Given the description of an element on the screen output the (x, y) to click on. 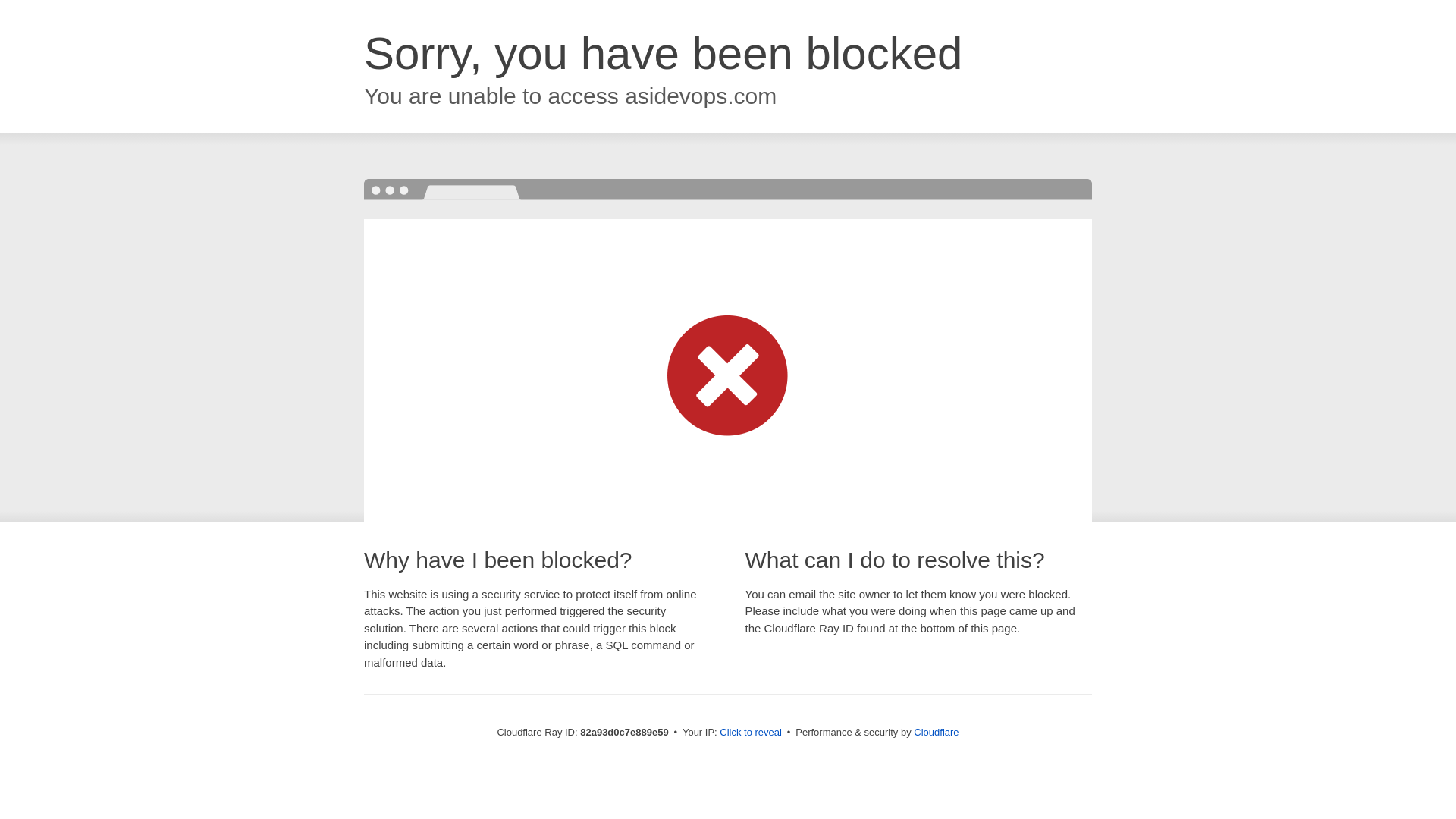
Click to reveal Element type: text (750, 732)
Cloudflare Element type: text (935, 731)
